Given the description of an element on the screen output the (x, y) to click on. 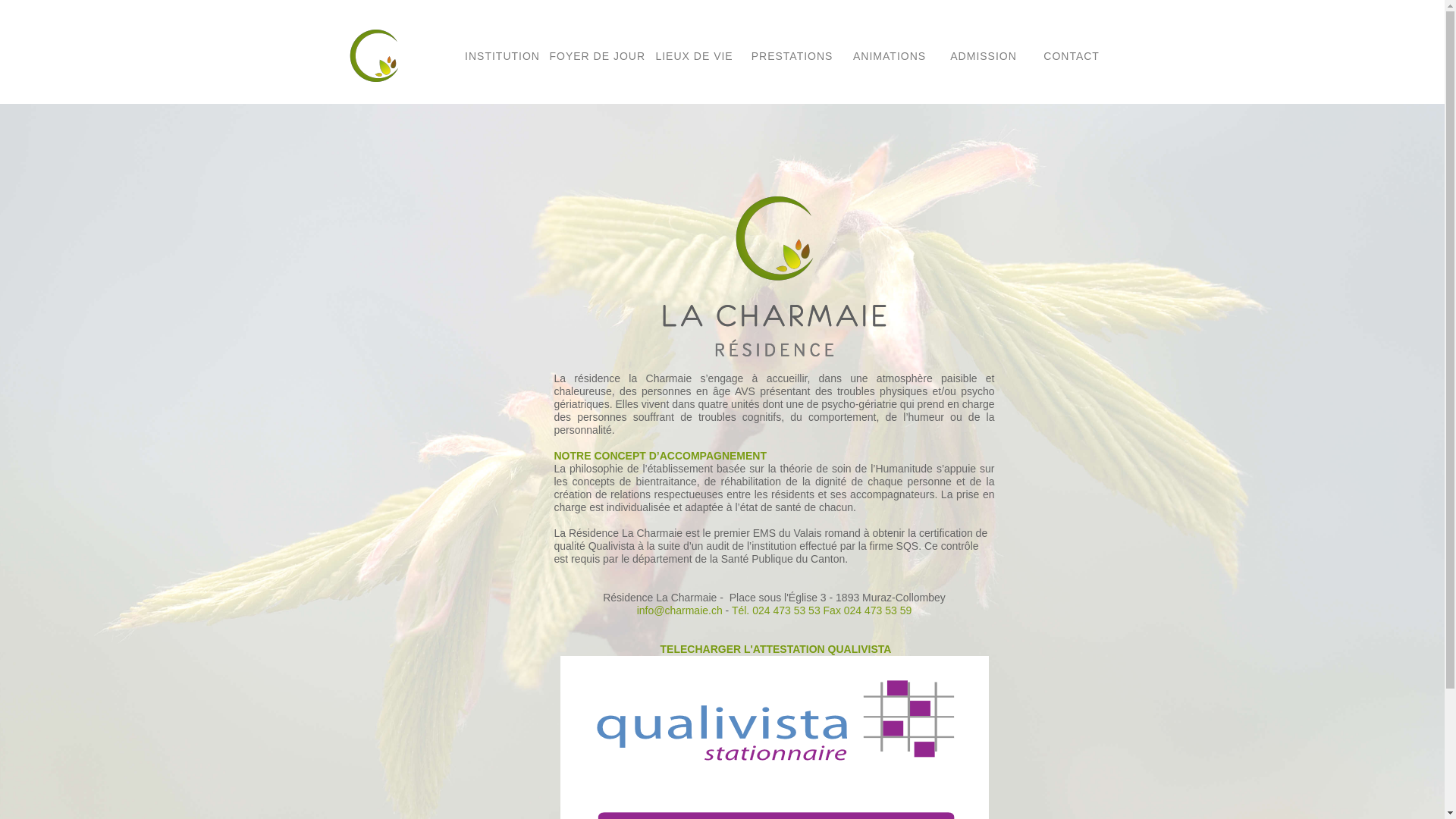
Aller au contenu principal Element type: text (59, 27)
 TELECHARGER L'ATTESTATION QUALIVISTA Element type: text (774, 649)
FOYER DE JOUR Element type: text (597, 56)
info@charmaie.ch Element type: text (679, 610)
